Given the description of an element on the screen output the (x, y) to click on. 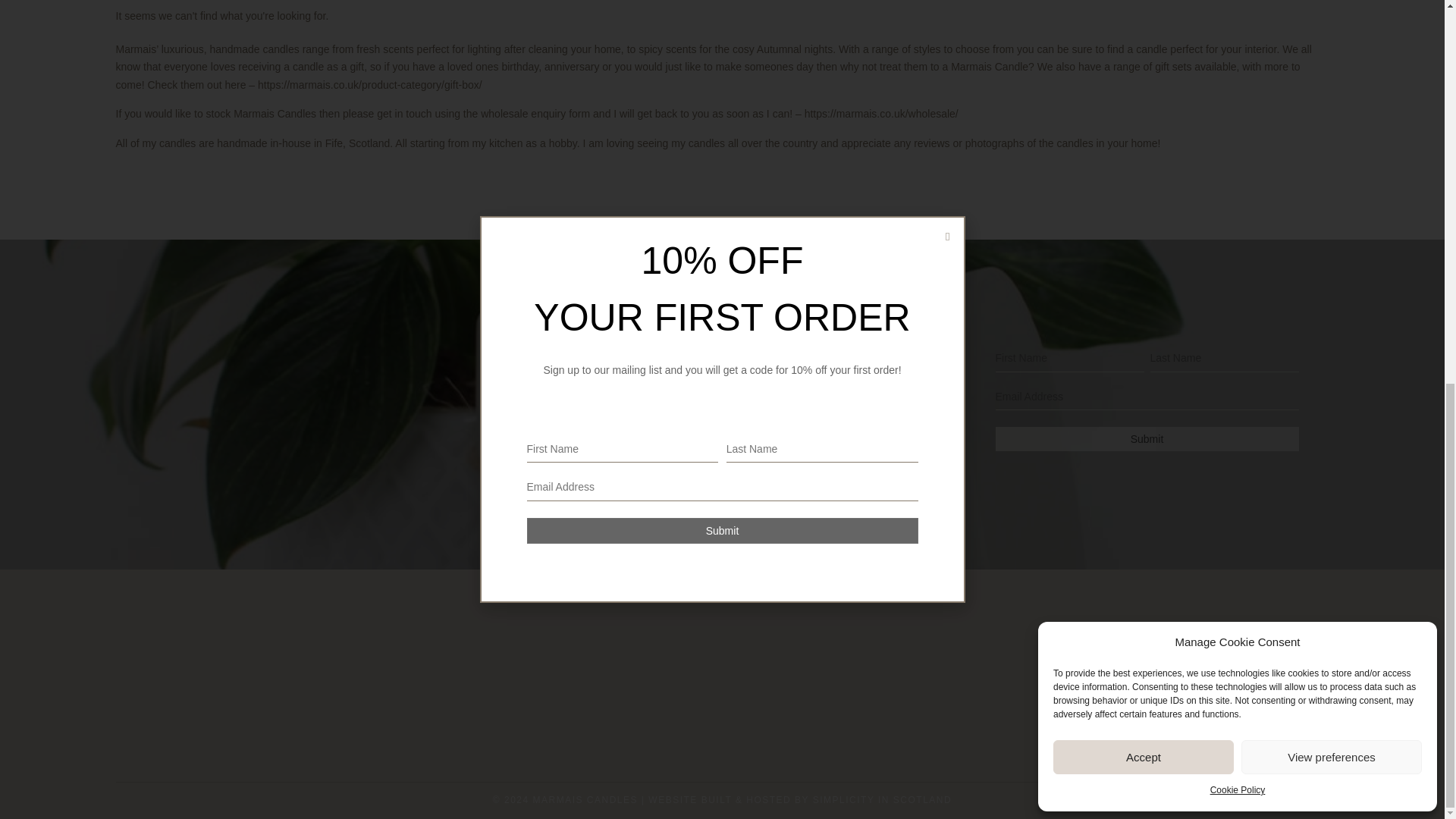
Cookie Policy (1237, 72)
View preferences (1331, 38)
Accept (1142, 38)
Submit (1146, 438)
Submit (1146, 438)
